Given the description of an element on the screen output the (x, y) to click on. 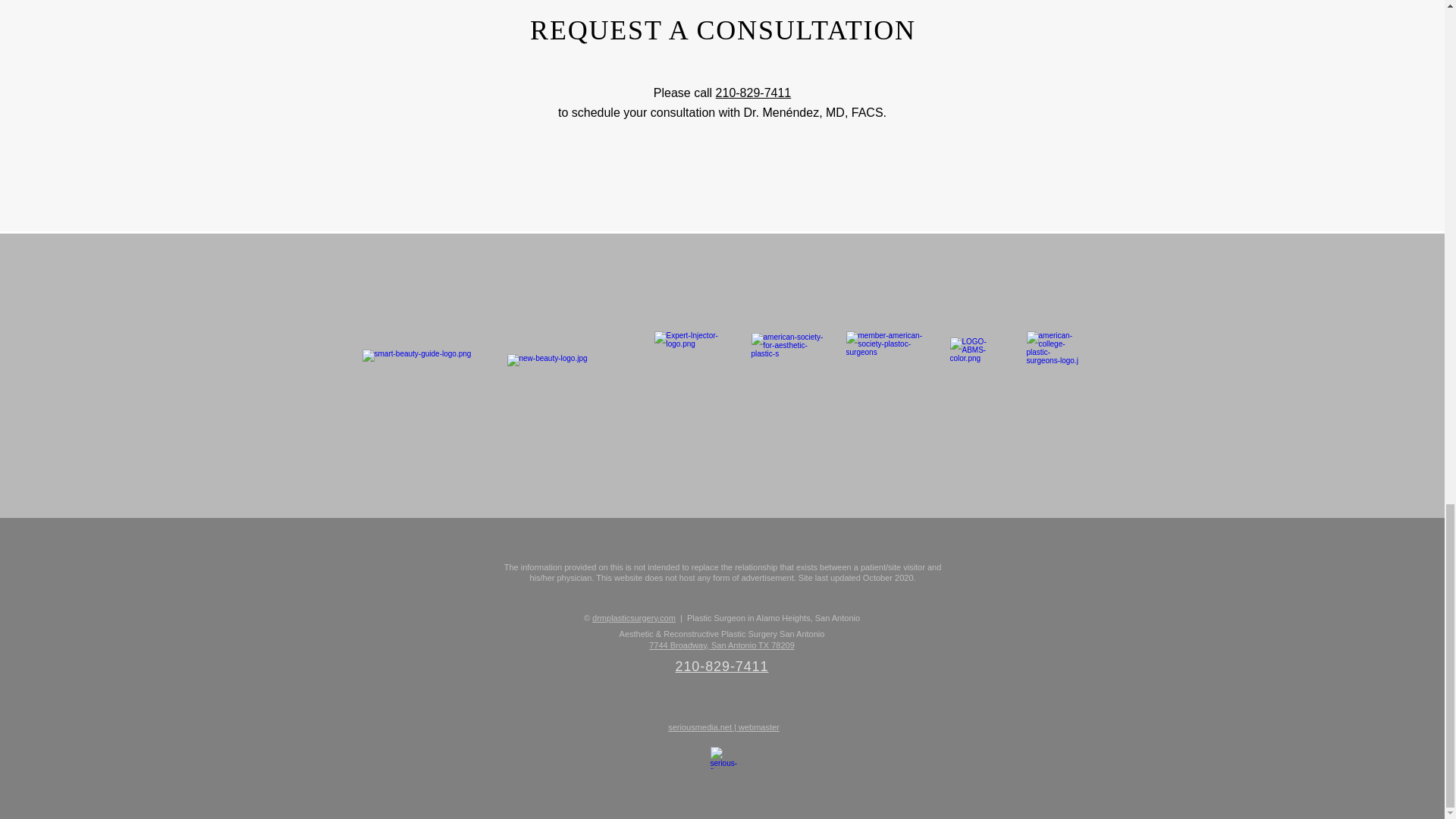
210-829-7411 (754, 92)
drmplasticsurgery.com (633, 617)
Smart beauty guide logo (424, 369)
contat the webmaster of drmplasticsurgry.com (723, 757)
210-829-7411 (721, 666)
Expert Injector logo (691, 369)
7744 Broadway, San Antonio TX 78209 (721, 645)
new beauty logo (570, 368)
